Given the description of an element on the screen output the (x, y) to click on. 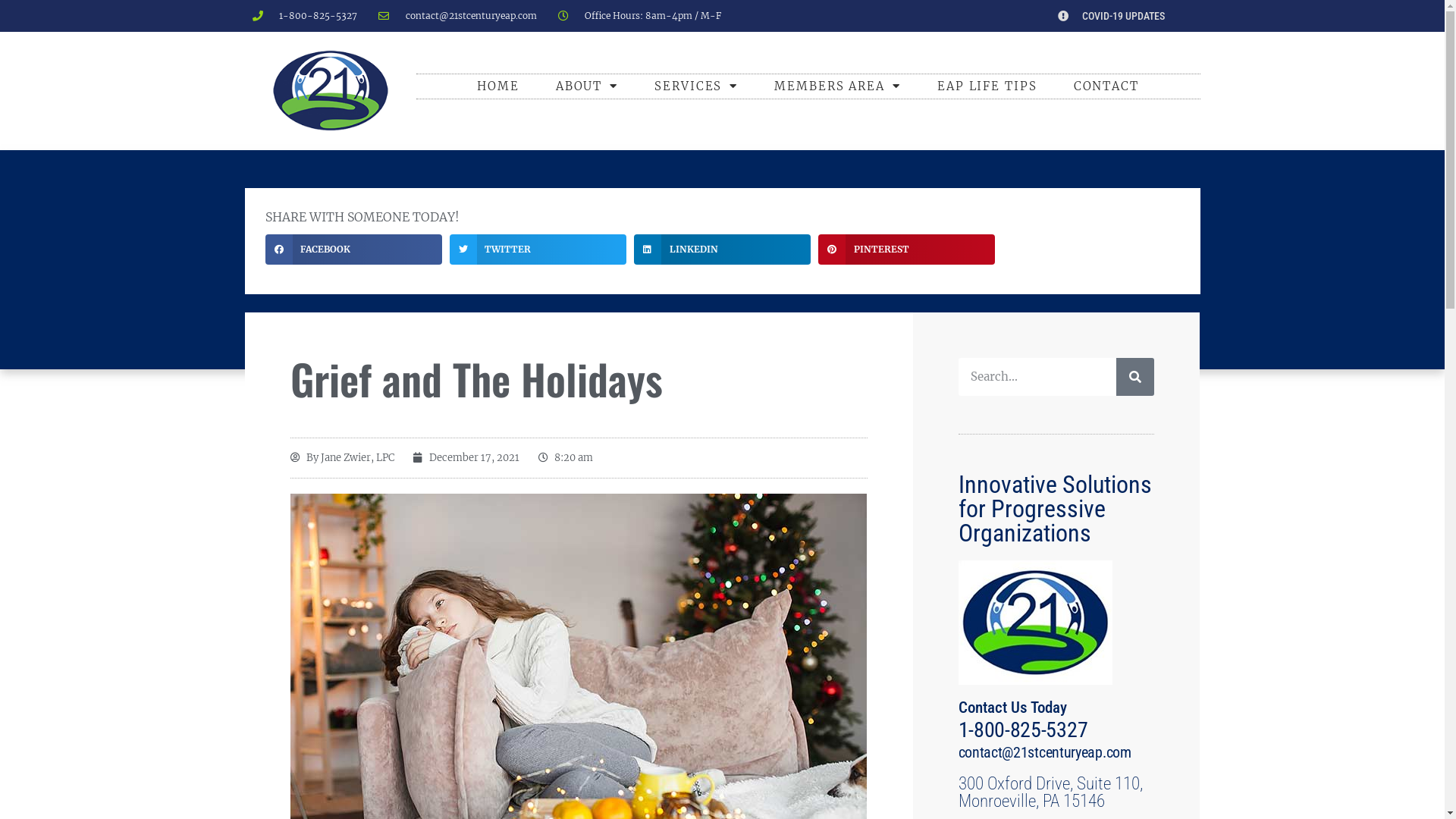
By Jane Zwier, LPC Element type: text (341, 457)
COVID-19 UPDATES Element type: text (1103, 15)
HOME Element type: text (497, 86)
December 17, 2021 Element type: text (465, 457)
ABOUT Element type: text (586, 86)
contact@21stcenturyeap.com Element type: text (1044, 752)
EAP LIFE TIPS Element type: text (987, 86)
1-800-825-5327 Element type: text (1023, 729)
contact@21stcenturyeap.com Element type: text (457, 15)
CONTACT Element type: text (1106, 86)
MEMBERS AREA Element type: text (837, 86)
SERVICES Element type: text (696, 86)
1-800-825-5327 Element type: text (304, 15)
